Given the description of an element on the screen output the (x, y) to click on. 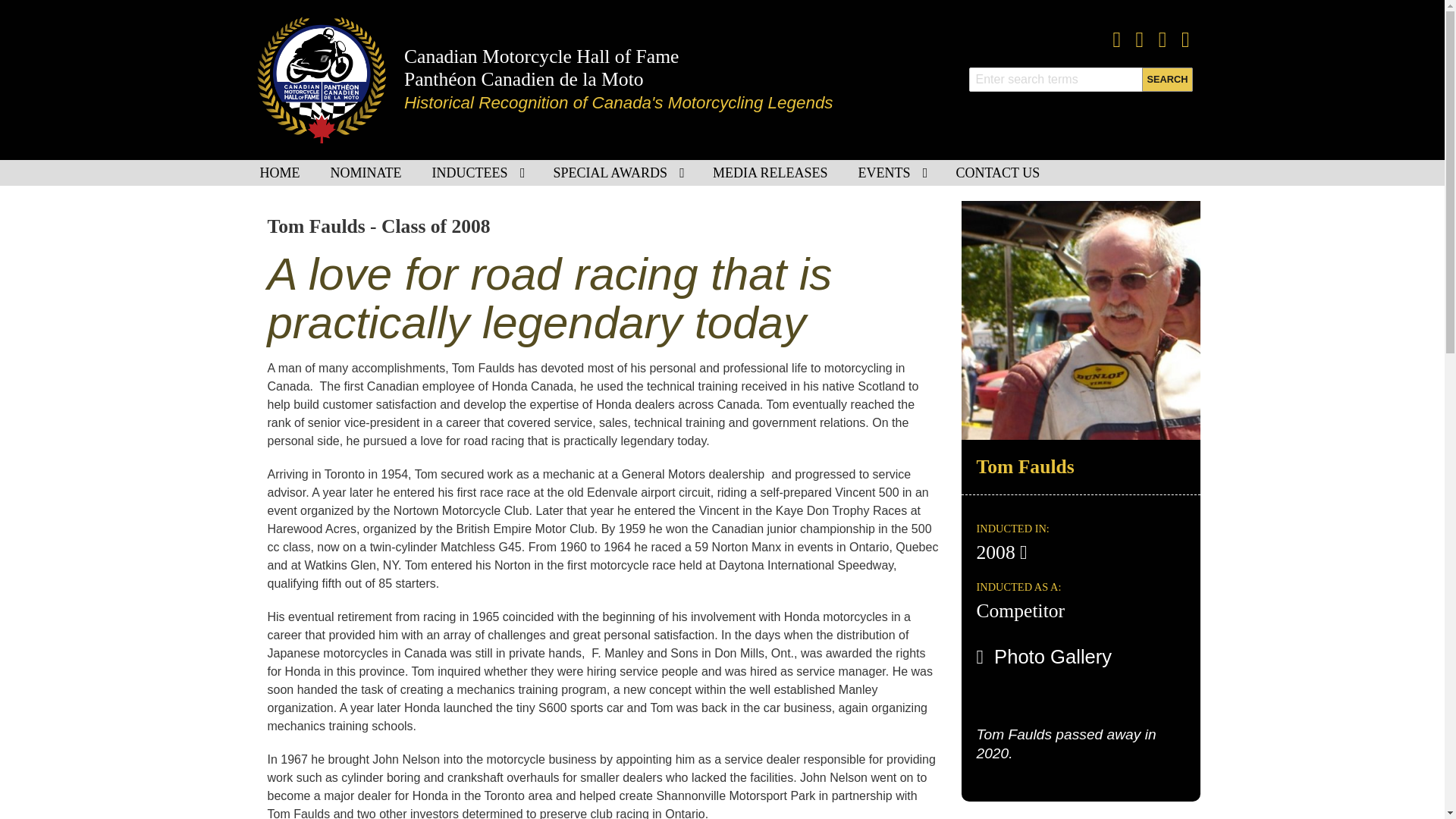
Tom Faulds (1079, 318)
MEDIA RELEASES (770, 172)
EVENTS (891, 172)
Enter the terms you wish to search for. (1080, 79)
INDUCTEES (477, 172)
NOMINATE (365, 172)
HOME (279, 172)
Canadian Motorcycle Hall of Fame (541, 56)
Search (1166, 79)
Search (1166, 79)
Historical Recognition of Canada's Motorcycling Legends (618, 102)
SPECIAL AWARDS (617, 172)
Search (1166, 79)
